Given the description of an element on the screen output the (x, y) to click on. 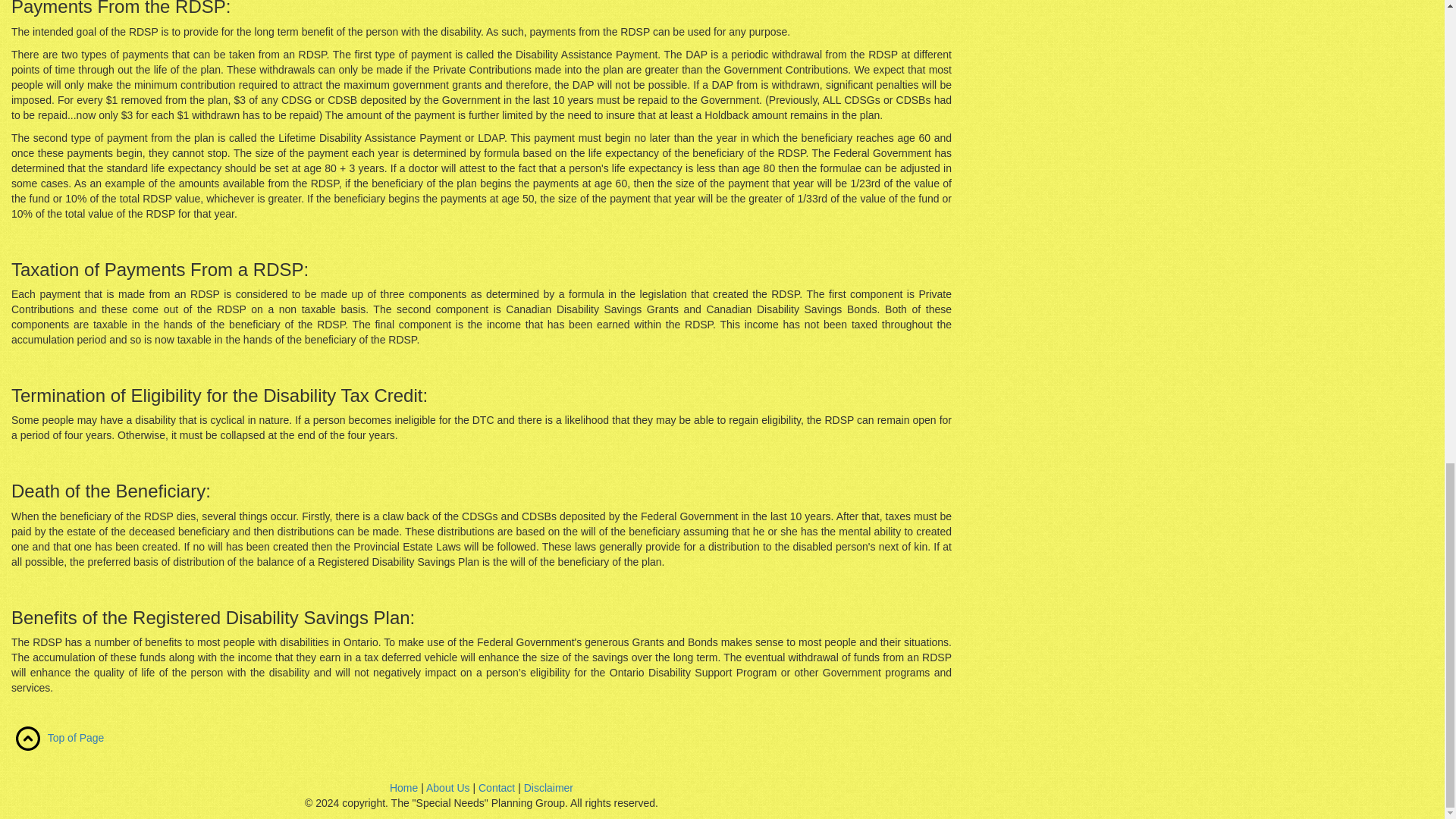
About Us (448, 787)
Home (403, 787)
Contact (497, 787)
Top of Page (76, 737)
Disclaimer (548, 787)
